Given the description of an element on the screen output the (x, y) to click on. 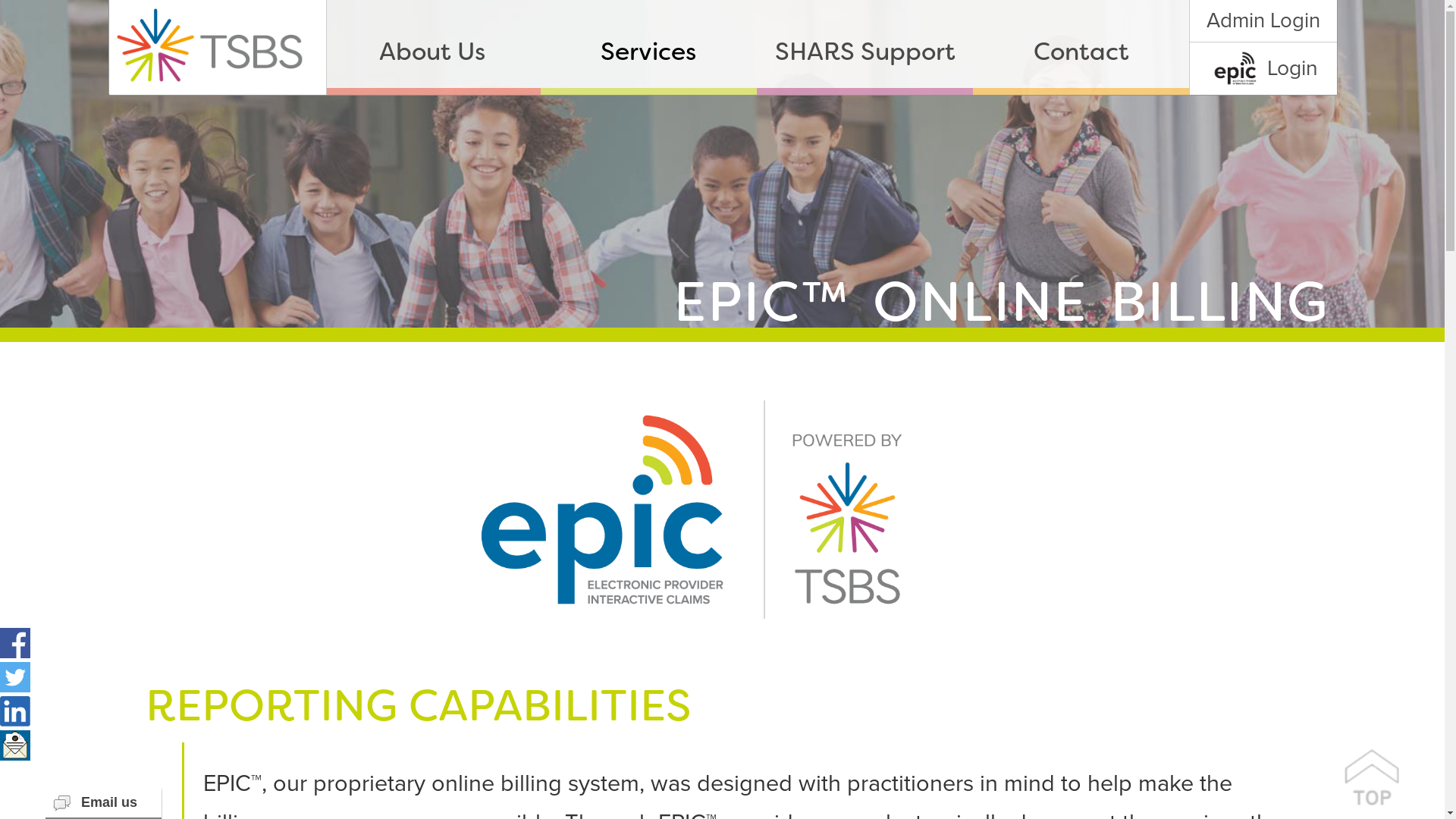
About Us Element type: text (431, 50)
SHARS Support Element type: text (864, 50)
About Us
Services
SHARS Support
Contact Element type: text (756, 47)
Admin Login Element type: text (1262, 21)
Admin Login
Login Element type: text (1262, 47)
Services Element type: text (648, 50)
Login Element type: text (1262, 68)
About Us
Services
SHARS Support
Contact
Admin Login
Login Element type: text (722, 47)
Contact Element type: text (1080, 50)
